Given the description of an element on the screen output the (x, y) to click on. 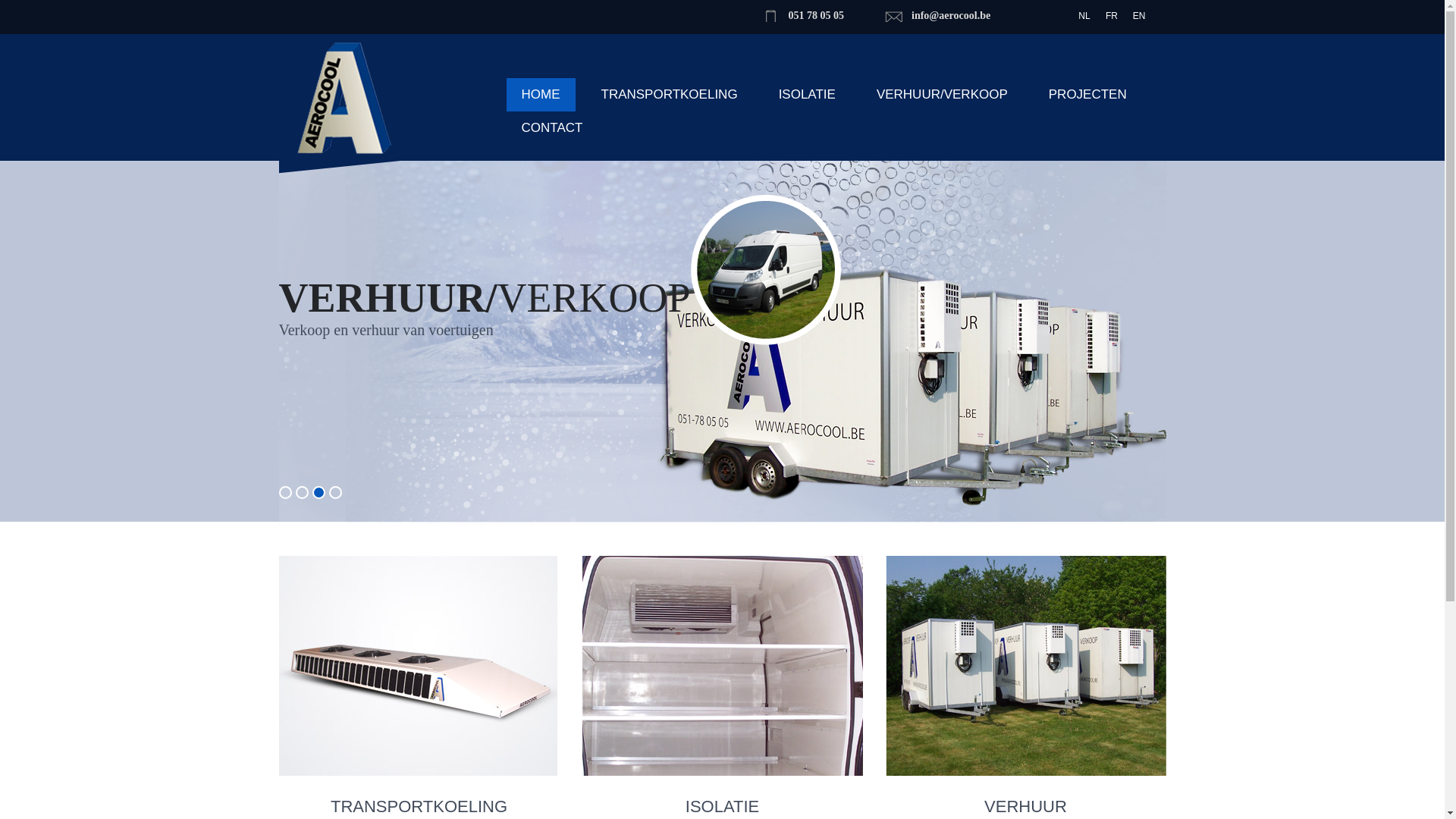
EN Element type: text (1138, 17)
CONTACT Element type: text (552, 127)
info@aerocool.be Element type: text (950, 15)
VERHUUR/VERKOOP Element type: text (941, 94)
PROJECTEN Element type: text (1087, 94)
3 Element type: text (318, 492)
4 Element type: text (335, 492)
Aerocool Element type: hover (343, 106)
HOME Element type: text (540, 94)
ISOLATIE Element type: text (806, 94)
NL Element type: text (1083, 17)
2 Element type: text (301, 492)
1 Element type: text (285, 492)
FR Element type: text (1111, 17)
TRANSPORTKOELING Element type: text (668, 94)
